Given the description of an element on the screen output the (x, y) to click on. 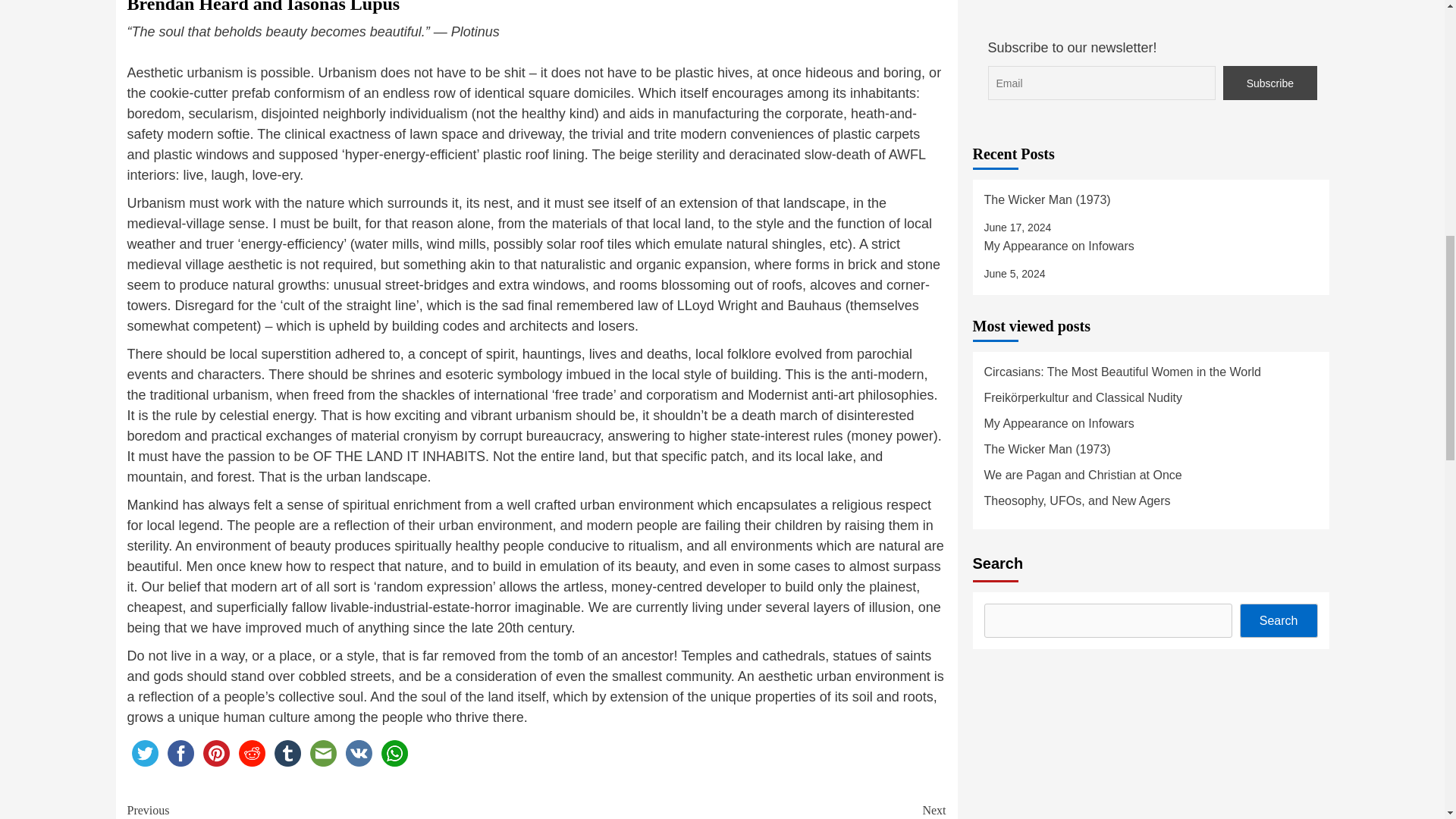
email (322, 753)
facebook (741, 810)
reddit (179, 753)
tumblr (250, 753)
vk (287, 753)
pinterest (358, 753)
whatsapp (216, 753)
twitter (332, 810)
